Given the description of an element on the screen output the (x, y) to click on. 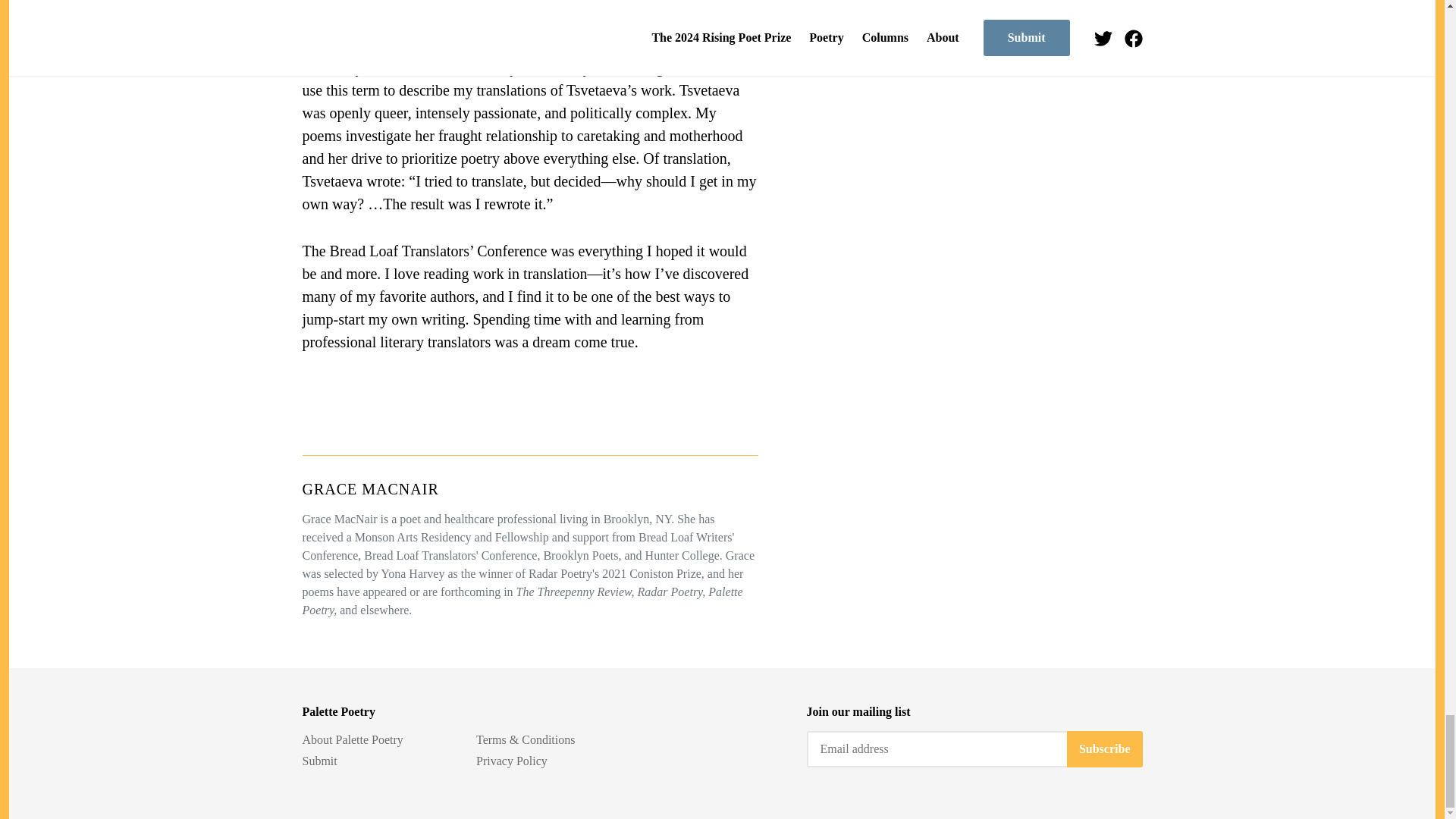
Subscribe (1104, 749)
Submit (318, 760)
Privacy Policy (511, 760)
About Palette Poetry (352, 739)
